Given the description of an element on the screen output the (x, y) to click on. 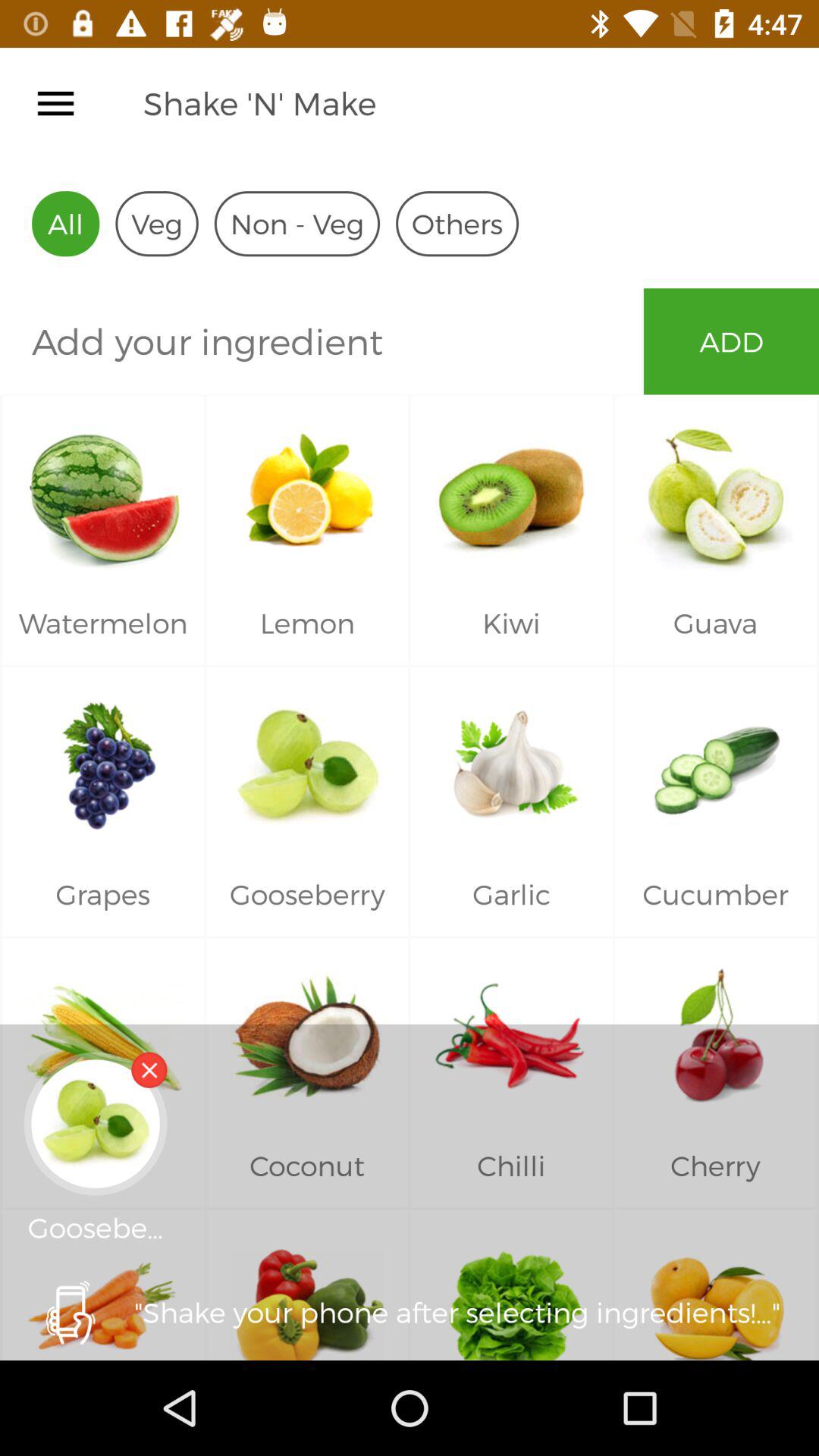
tap icon next to others (296, 223)
